Given the description of an element on the screen output the (x, y) to click on. 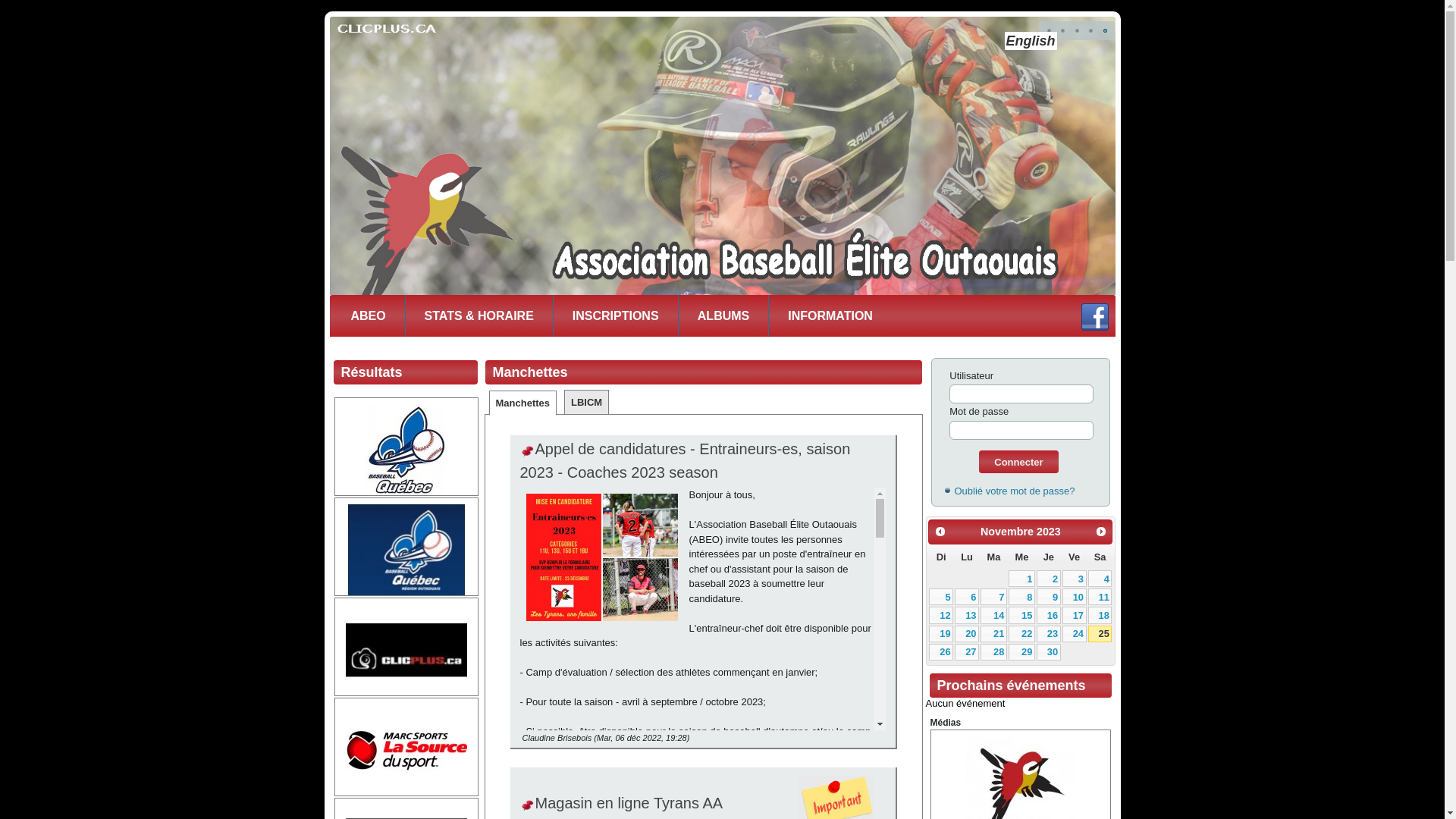
4 Element type: text (1100, 578)
11 Element type: text (1100, 596)
9 Element type: text (1048, 596)
16 Element type: text (1048, 614)
Manchettes Element type: text (529, 371)
24 Element type: text (1074, 633)
Connecter Element type: text (1018, 461)
23 Element type: text (1048, 633)
INFORMATION Element type: text (829, 315)
Next Element type: text (1100, 531)
Magasin en ligne Tyrans AA Element type: text (629, 802)
ALBUMS Element type: text (723, 315)
20 Element type: text (966, 633)
6 Element type: text (966, 596)
18 Element type: text (1100, 614)
22 Element type: text (1021, 633)
ABEO Element type: text (368, 315)
27 Element type: text (966, 651)
Marc Sports Element type: hover (406, 749)
Sticky Element type: hover (527, 806)
Sticky Element type: hover (527, 451)
2 Element type: text (1048, 578)
14 Element type: text (993, 614)
28 Element type: text (993, 651)
5 Element type: text (940, 596)
ClicPlus Element type: hover (406, 649)
10 Element type: text (1074, 596)
12 Element type: text (940, 614)
30 Element type: text (1048, 651)
3 Element type: text (1074, 578)
26 Element type: text (940, 651)
1 Element type: text (1021, 578)
English Element type: text (1029, 40)
13 Element type: text (966, 614)
7 Element type: text (993, 596)
25 Element type: text (1100, 633)
LBICM Element type: text (586, 401)
19 Element type: text (940, 633)
Facebook Element type: hover (1094, 316)
Manchettes Element type: text (522, 402)
INSCRIPTIONS Element type: text (615, 315)
15 Element type: text (1021, 614)
8 Element type: text (1021, 596)
21 Element type: text (993, 633)
17 Element type: text (1074, 614)
STATS & HORAIRE Element type: text (478, 315)
Prev Element type: text (940, 531)
29 Element type: text (1021, 651)
